Given the description of an element on the screen output the (x, y) to click on. 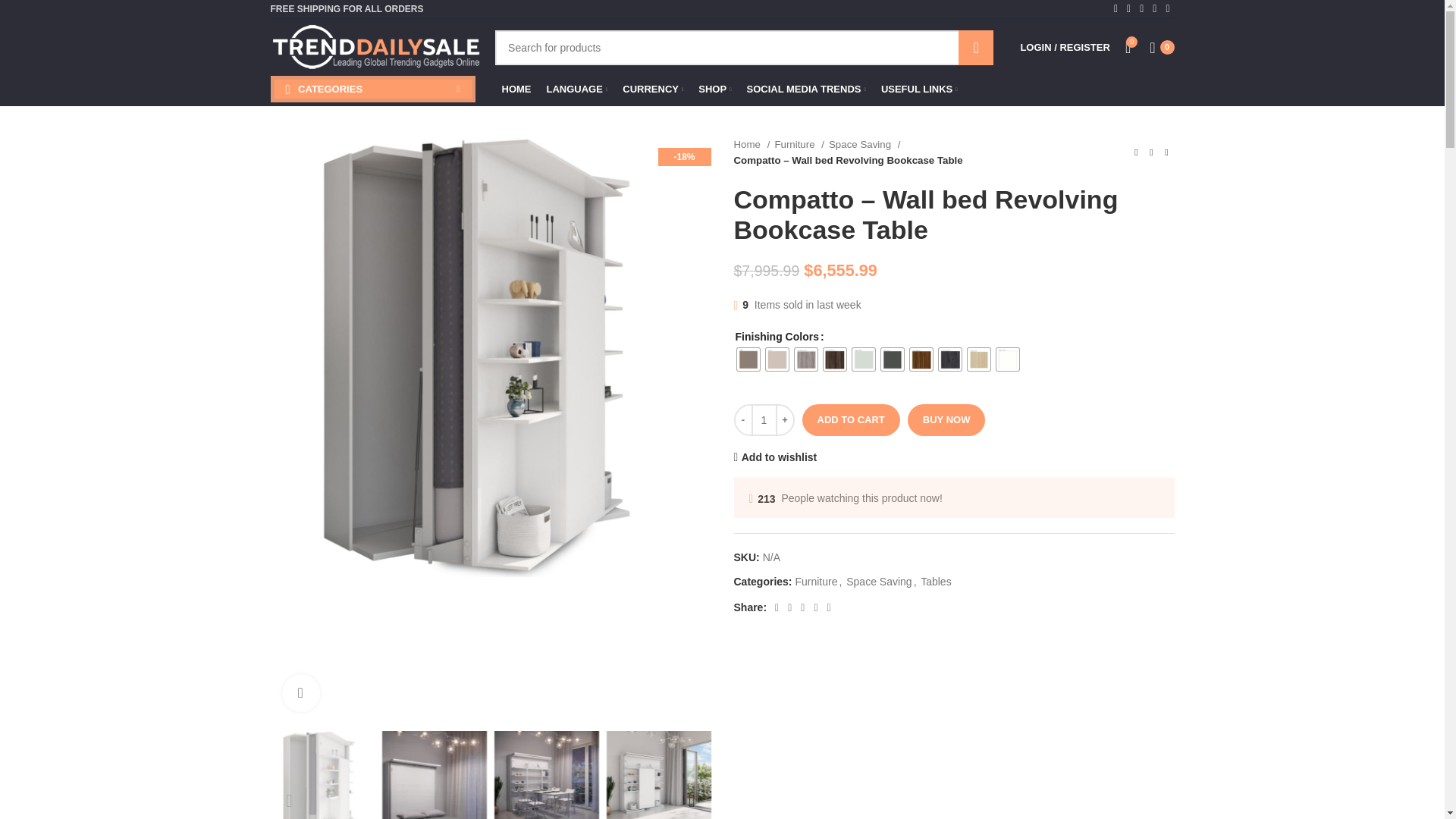
SEARCH (975, 47)
Shopping cart (1160, 46)
My account (1063, 46)
Search for products (743, 47)
0 (1160, 46)
